Given the description of an element on the screen output the (x, y) to click on. 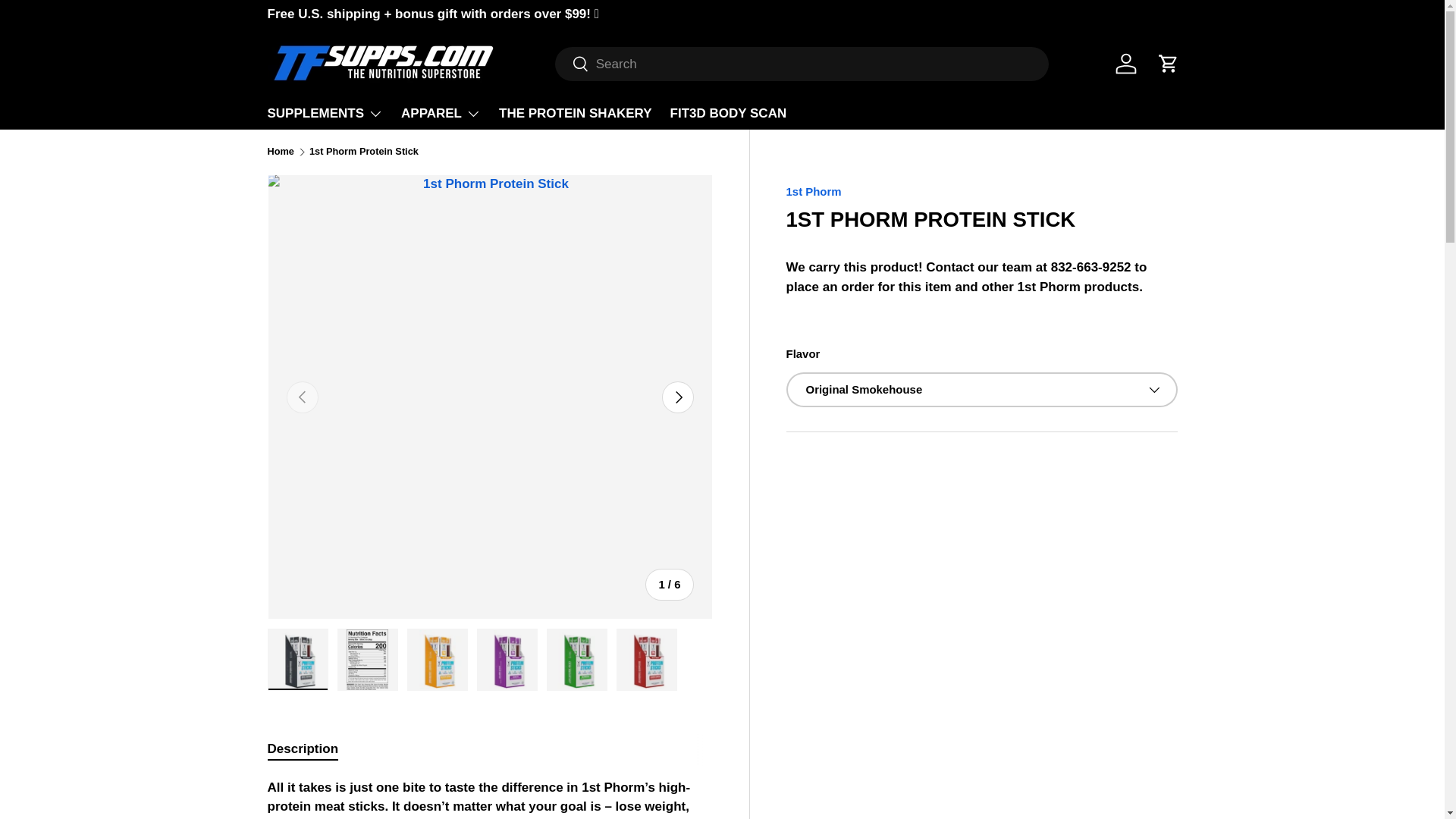
Load image 2 in gallery view (366, 659)
Load image 1 in gallery view (296, 659)
FIT3D BODY SCAN (728, 113)
Search (571, 64)
Home (280, 152)
Cart (1168, 63)
SKIP TO CONTENT (69, 21)
APPAREL (440, 113)
PREVIOUS (302, 397)
Load image 3 in gallery view (436, 659)
